Given the description of an element on the screen output the (x, y) to click on. 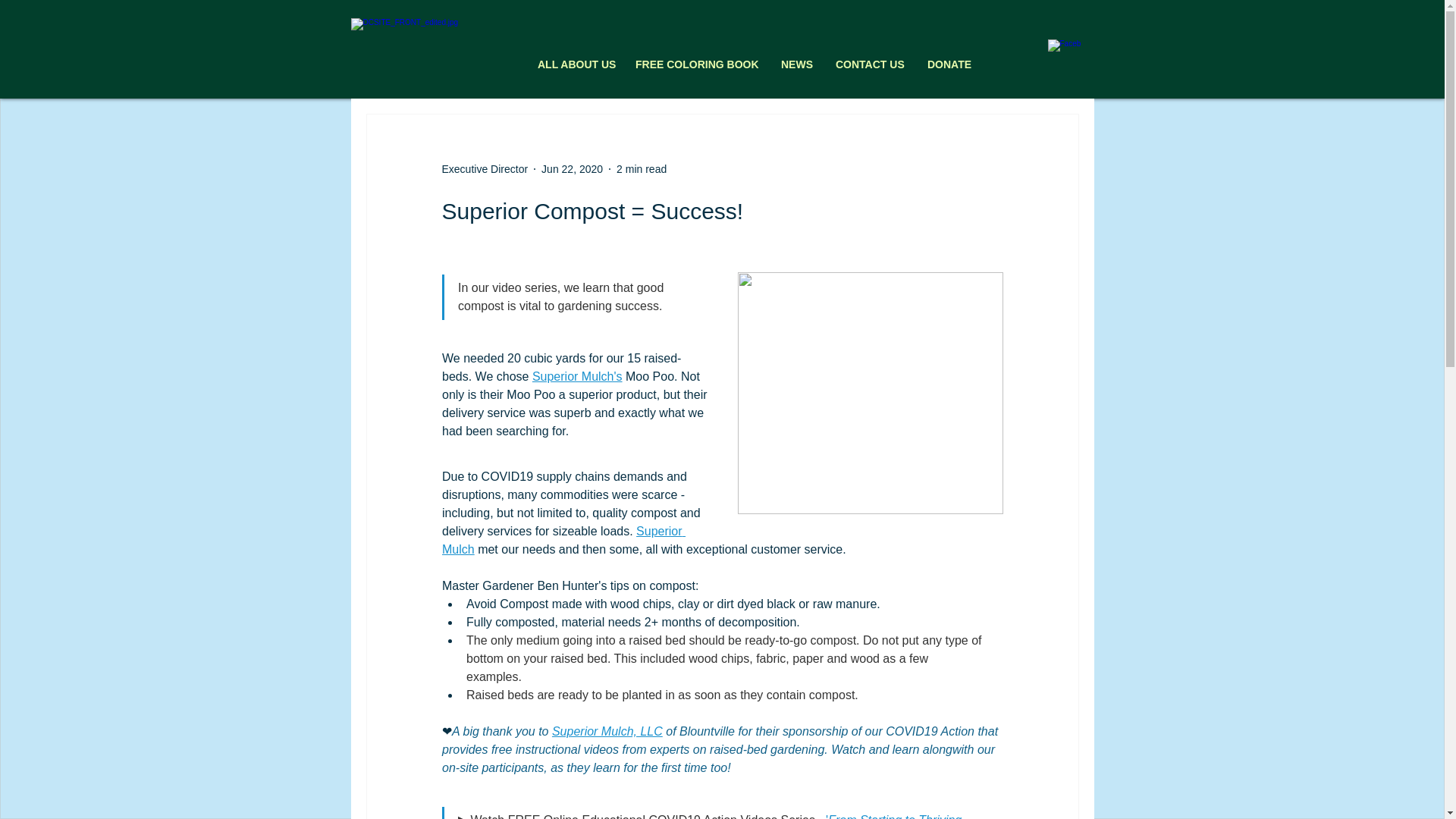
Superior Mulch's (576, 376)
2 min read (640, 168)
FREE COLORING BOOK (697, 64)
Jun 22, 2020 (571, 168)
Superior Mulch (562, 540)
Executive Director (484, 168)
Executive Director (484, 168)
DONATE (949, 64)
Superior Mulch, LLC (606, 730)
CONTACT US (869, 64)
